Given the description of an element on the screen output the (x, y) to click on. 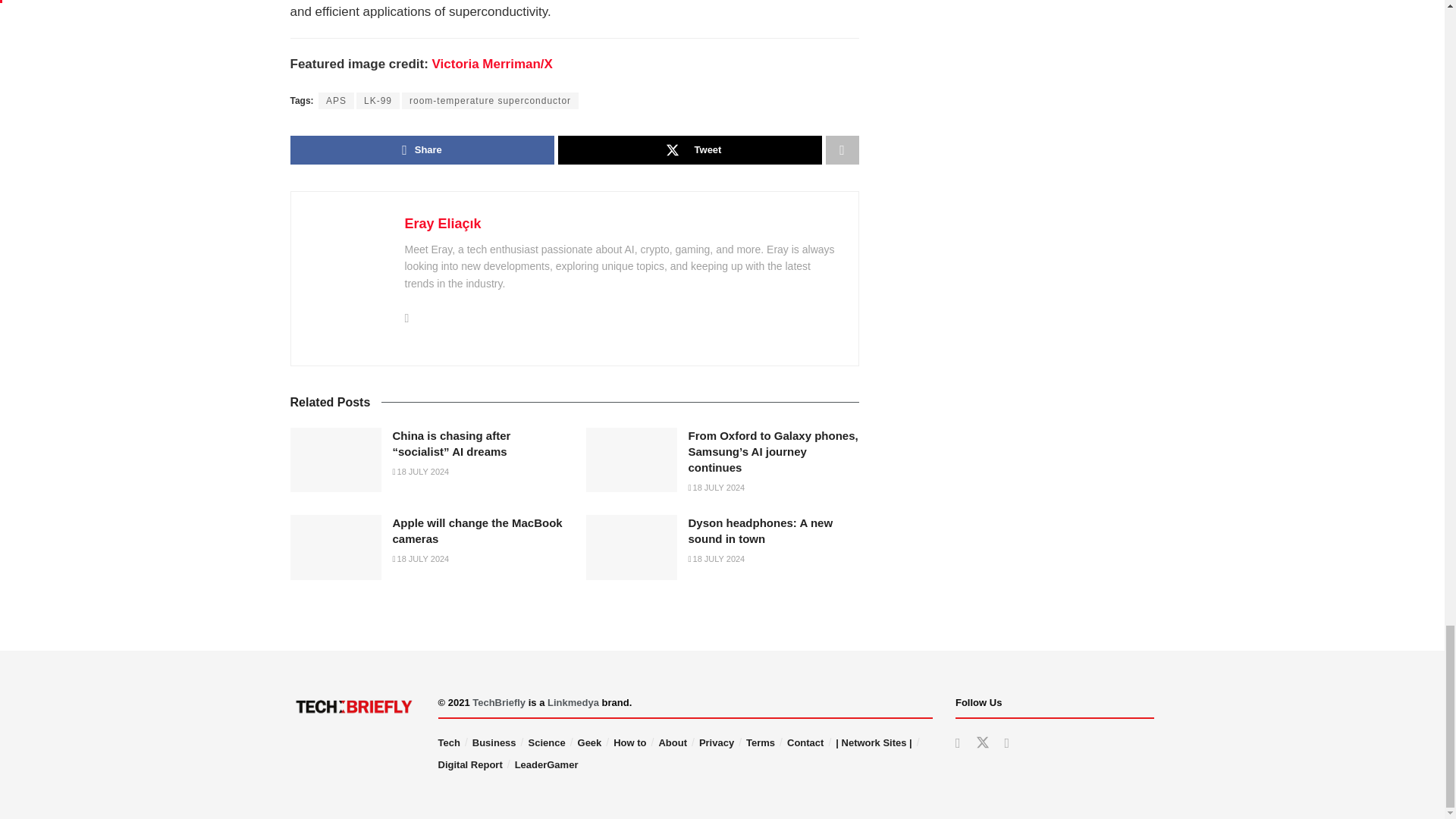
Apple will change the MacBook cameras (334, 547)
Linkmedya (572, 702)
TechBriefly (498, 702)
Dyson headphones: A new sound in town (631, 547)
